Given the description of an element on the screen output the (x, y) to click on. 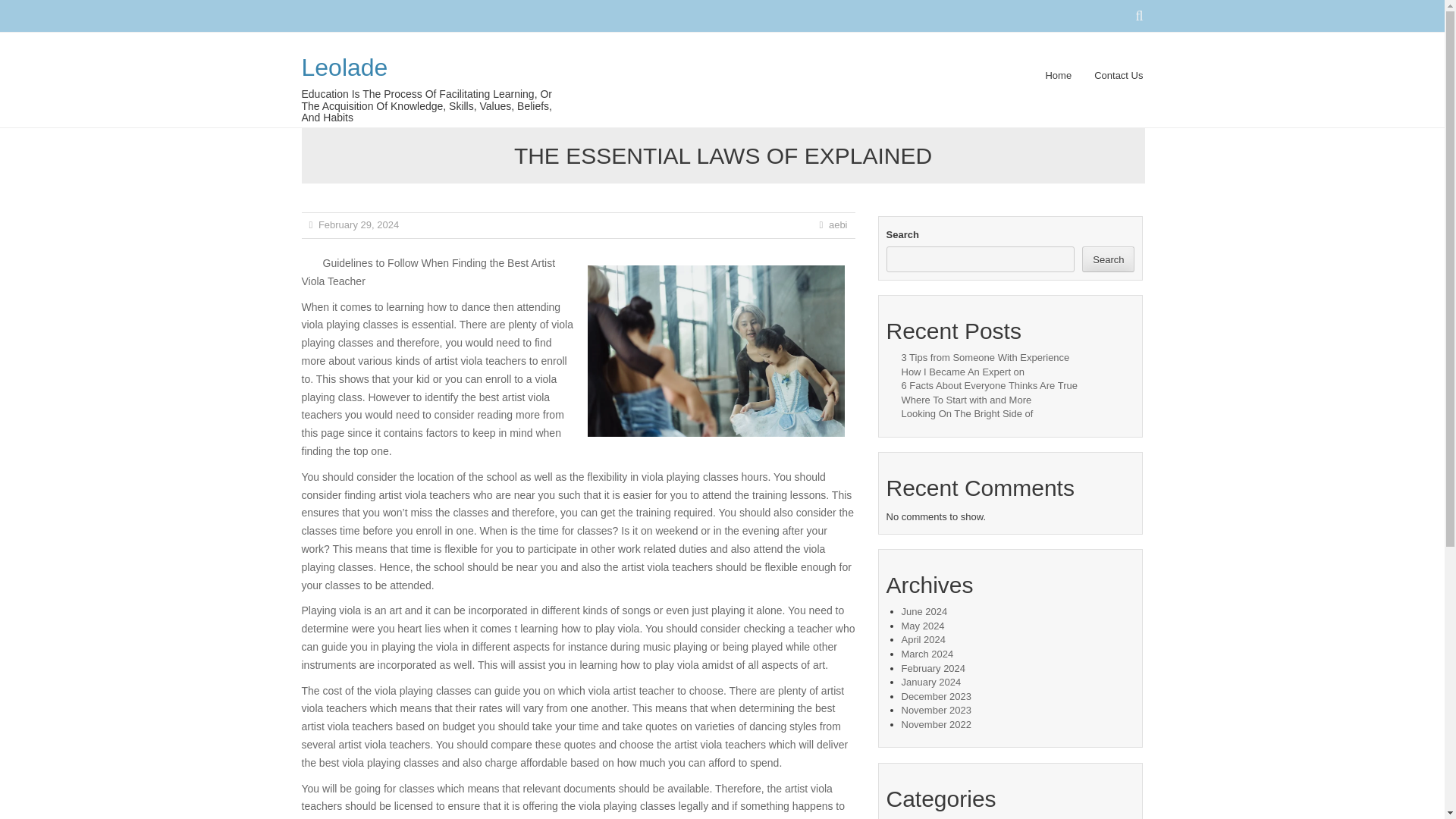
Skip to content (599, 75)
Contact Us (1112, 83)
February 2024 (933, 668)
Home (1058, 83)
November 2023 (936, 709)
January 2024 (930, 681)
December 2023 (936, 696)
March 2024 (927, 654)
6 Facts About Everyone Thinks Are True (989, 385)
May 2024 (922, 625)
Search (1107, 258)
April 2024 (922, 639)
Leolade (344, 67)
February 29, 2024 (358, 224)
3 Tips from Someone With Experience (984, 357)
